Given the description of an element on the screen output the (x, y) to click on. 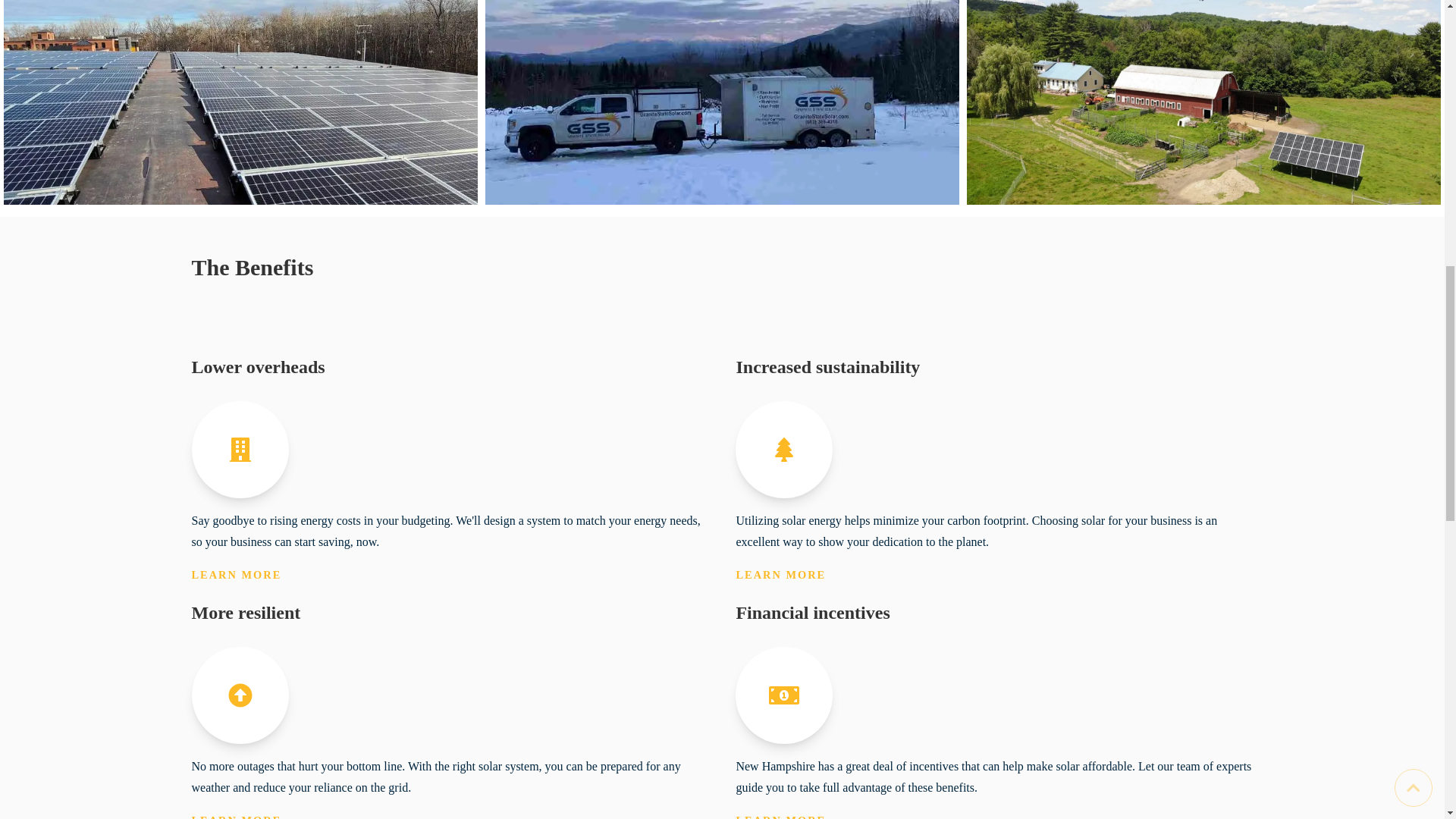
LEARN MORE (235, 574)
LEARN MORE (235, 816)
LEARN MORE (780, 574)
LEARN MORE (780, 816)
